Given the description of an element on the screen output the (x, y) to click on. 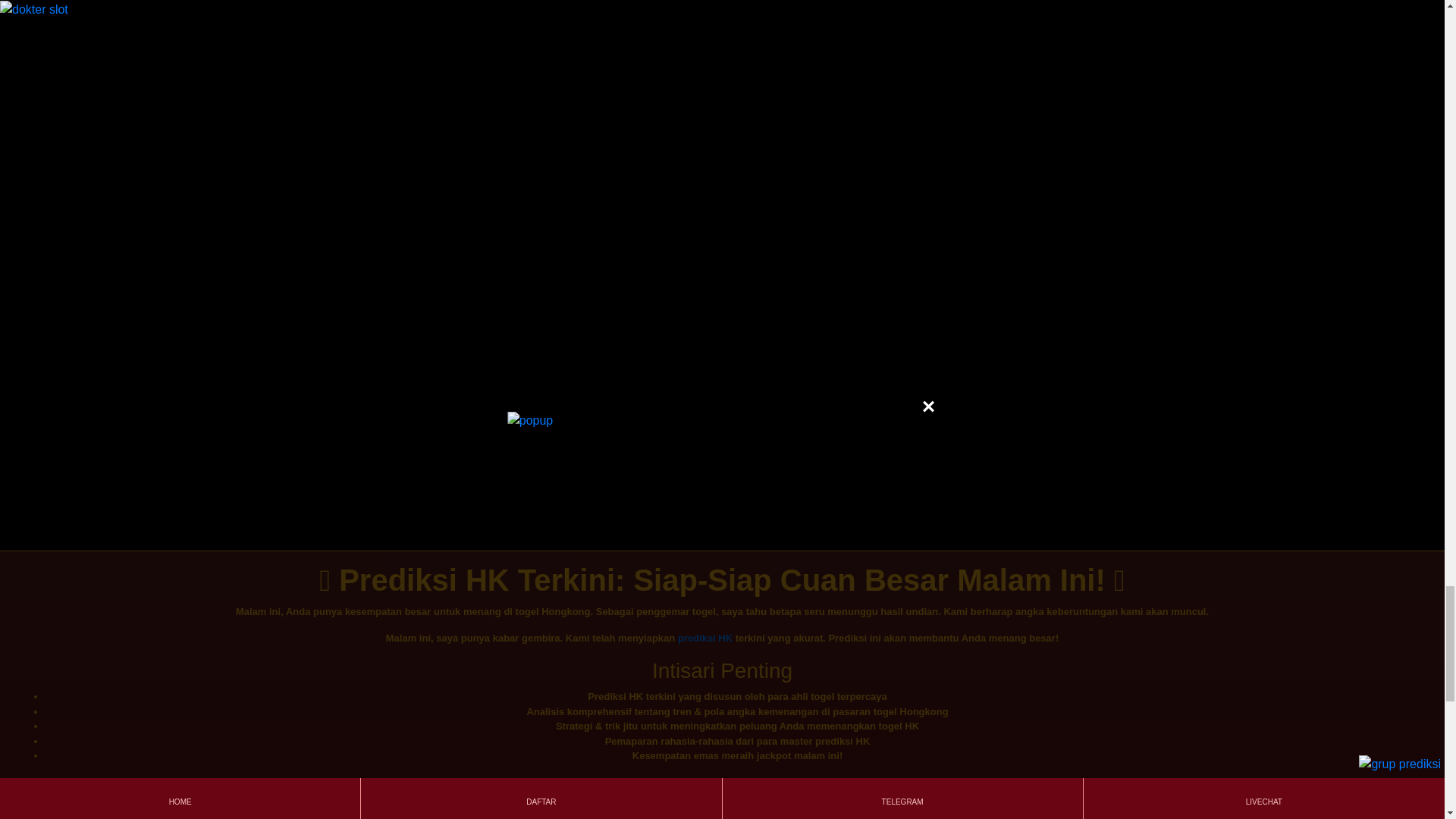
prediksi HK (705, 637)
